Given the description of an element on the screen output the (x, y) to click on. 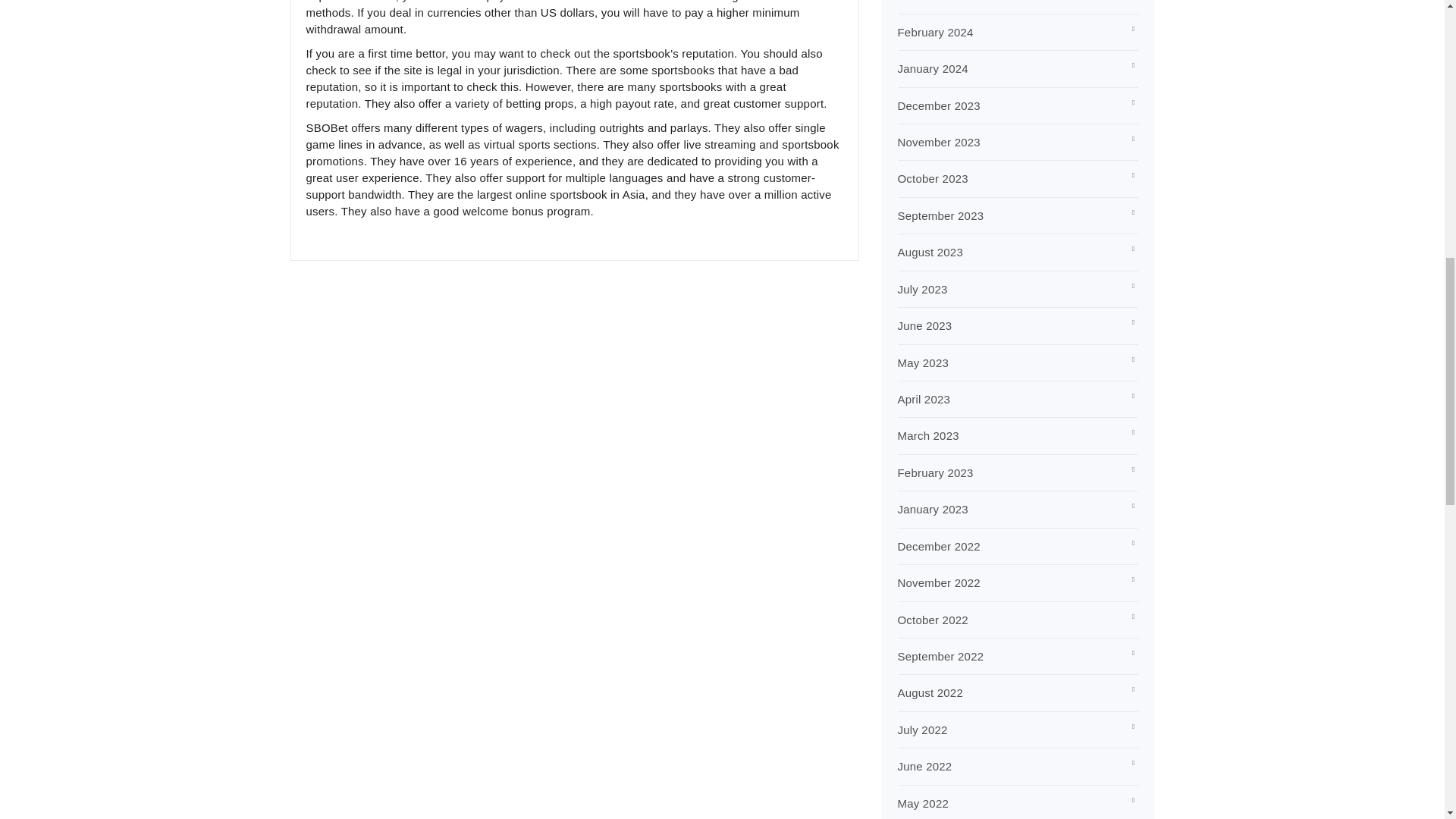
October 2023 (933, 178)
November 2023 (938, 141)
February 2024 (936, 31)
January 2024 (933, 68)
September 2023 (941, 215)
March 2024 (928, 0)
August 2023 (930, 251)
December 2023 (938, 105)
